Given the description of an element on the screen output the (x, y) to click on. 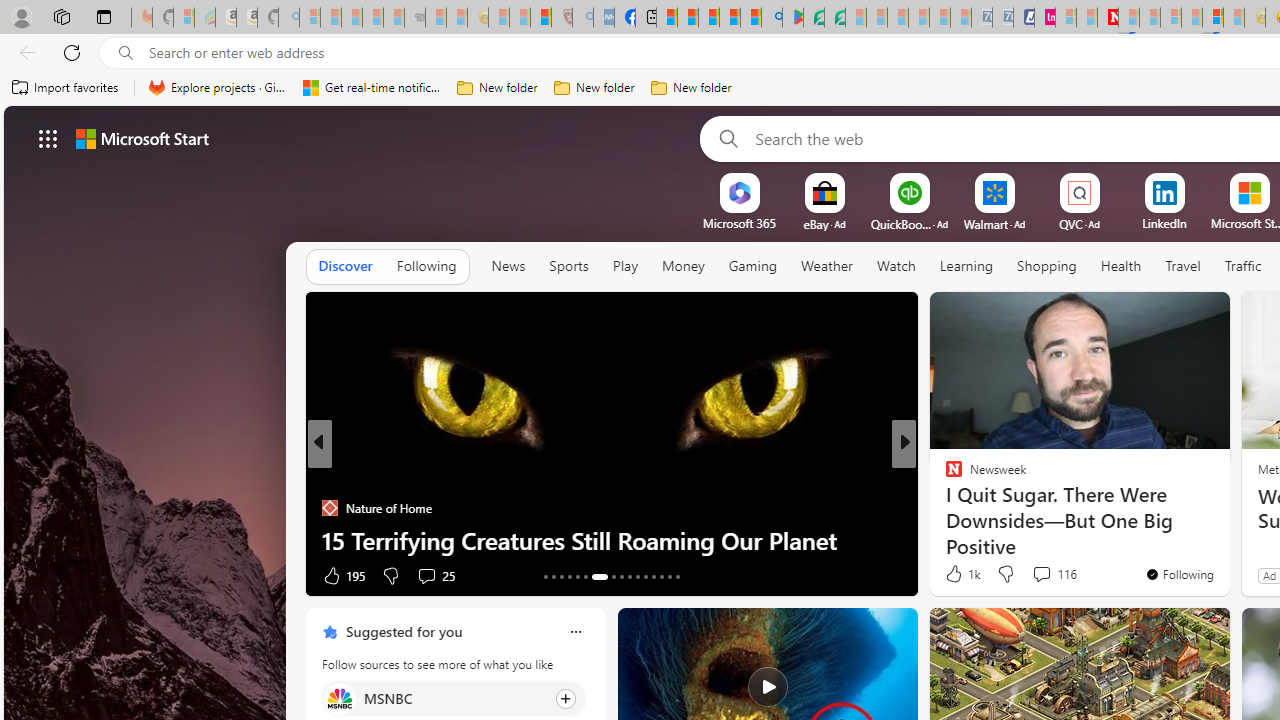
View comments 134 Comment (1048, 574)
Weather (826, 267)
Ad Choice (287, 575)
Gaming (752, 267)
View comments 25 Comment (426, 575)
AutomationID: tab-24 (645, 576)
AutomationID: tab-14 (553, 576)
View comments 307 Comment (1048, 574)
AutomationID: tab-13 (545, 576)
